Given the description of an element on the screen output the (x, y) to click on. 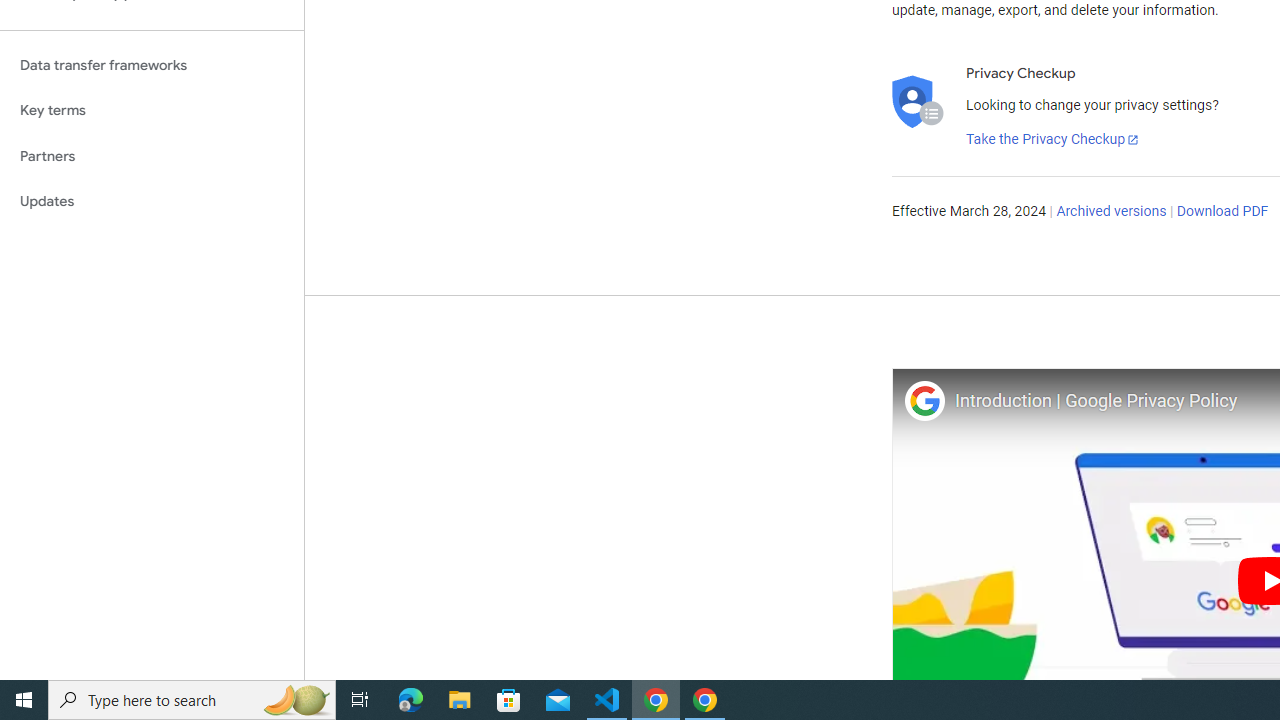
Data transfer frameworks (152, 65)
Updates (152, 201)
Key terms (152, 110)
Download PDF (1222, 212)
Photo image of Google (924, 400)
Archived versions (1111, 212)
Take the Privacy Checkup (1053, 140)
Partners (152, 156)
